Given the description of an element on the screen output the (x, y) to click on. 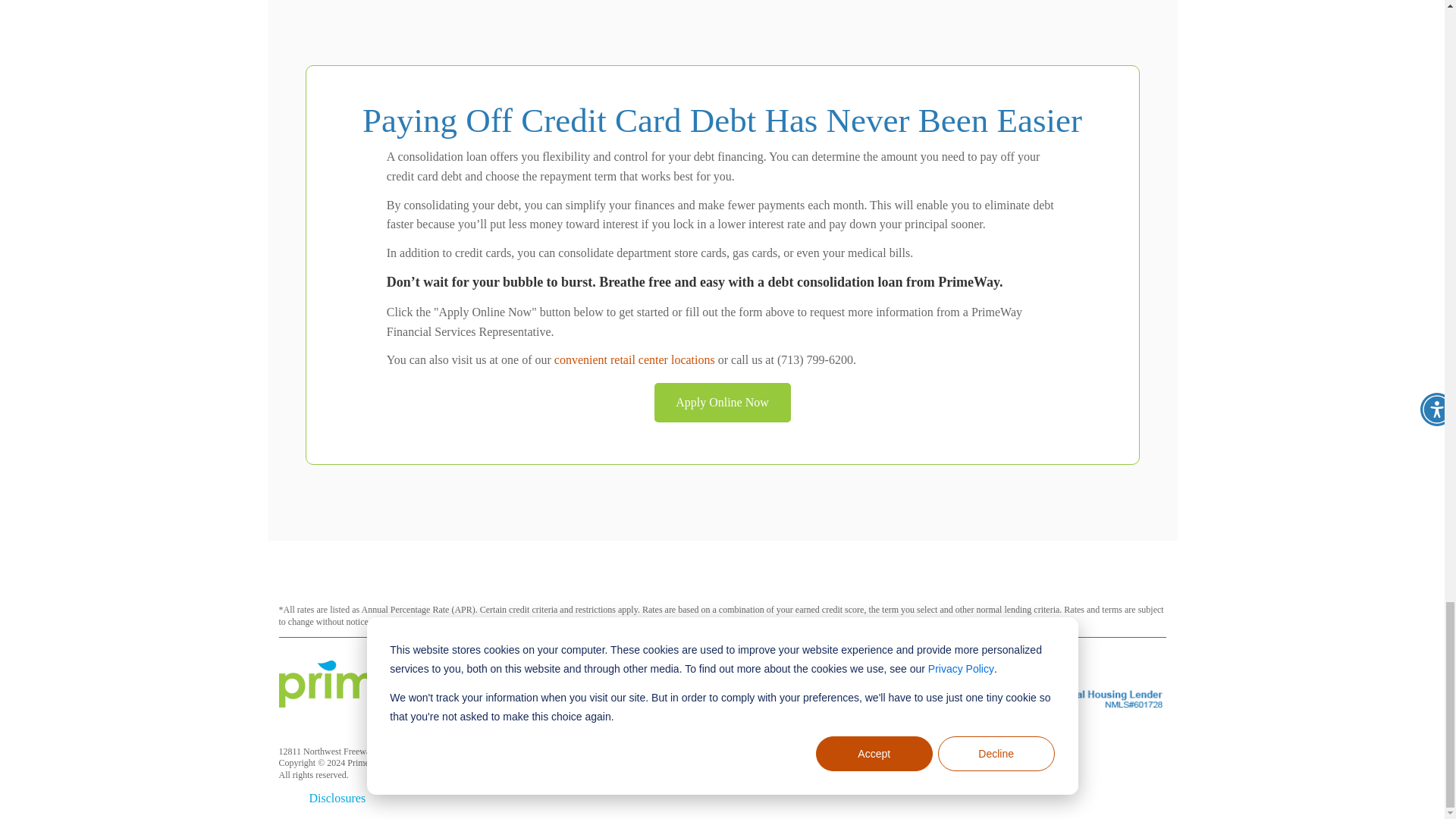
Disclosures (337, 797)
Apply Online Now (721, 402)
convenient retail center locations (634, 359)
PrimeWay (392, 683)
